Given the description of an element on the screen output the (x, y) to click on. 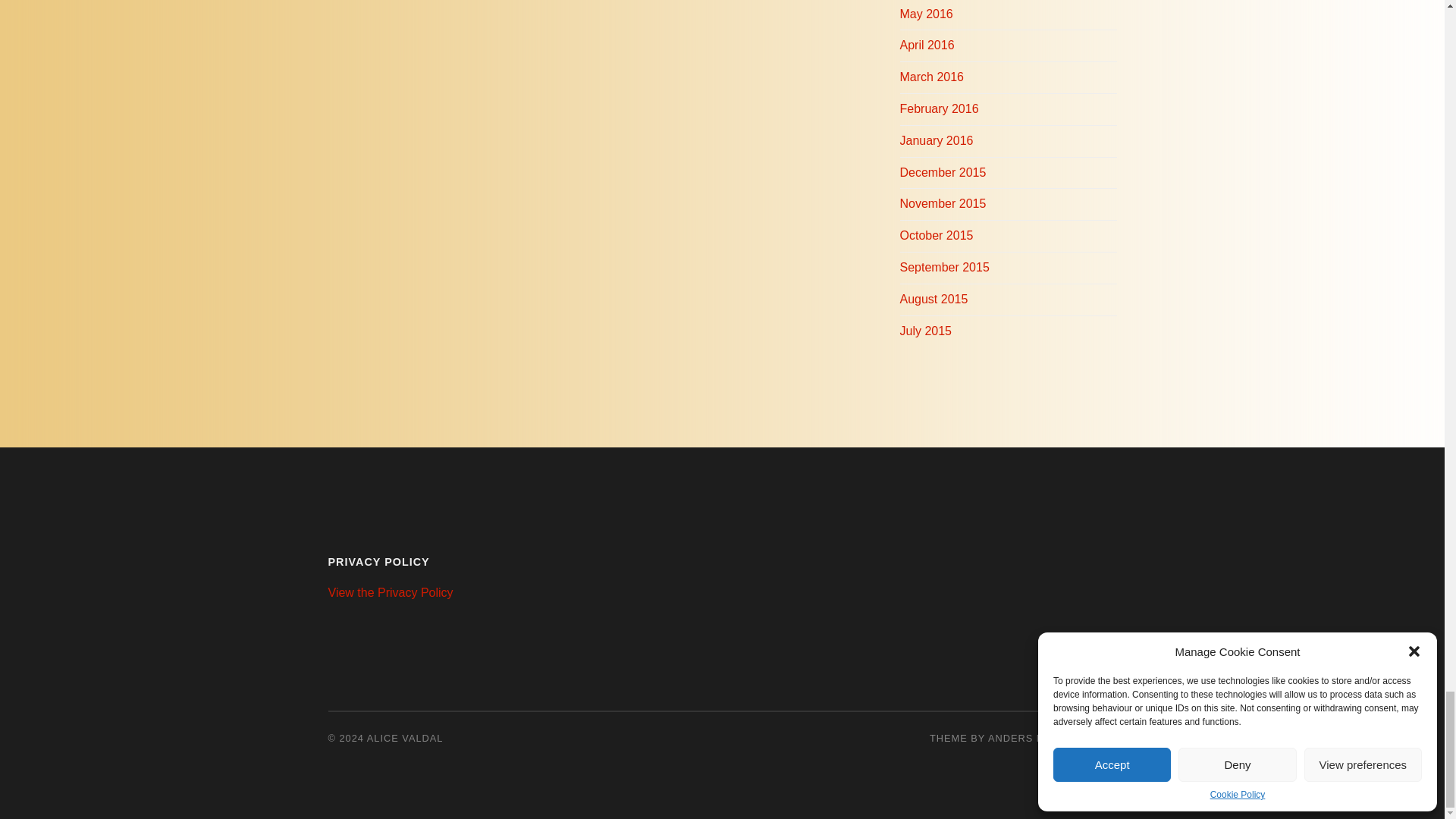
To the top (1104, 737)
